Given the description of an element on the screen output the (x, y) to click on. 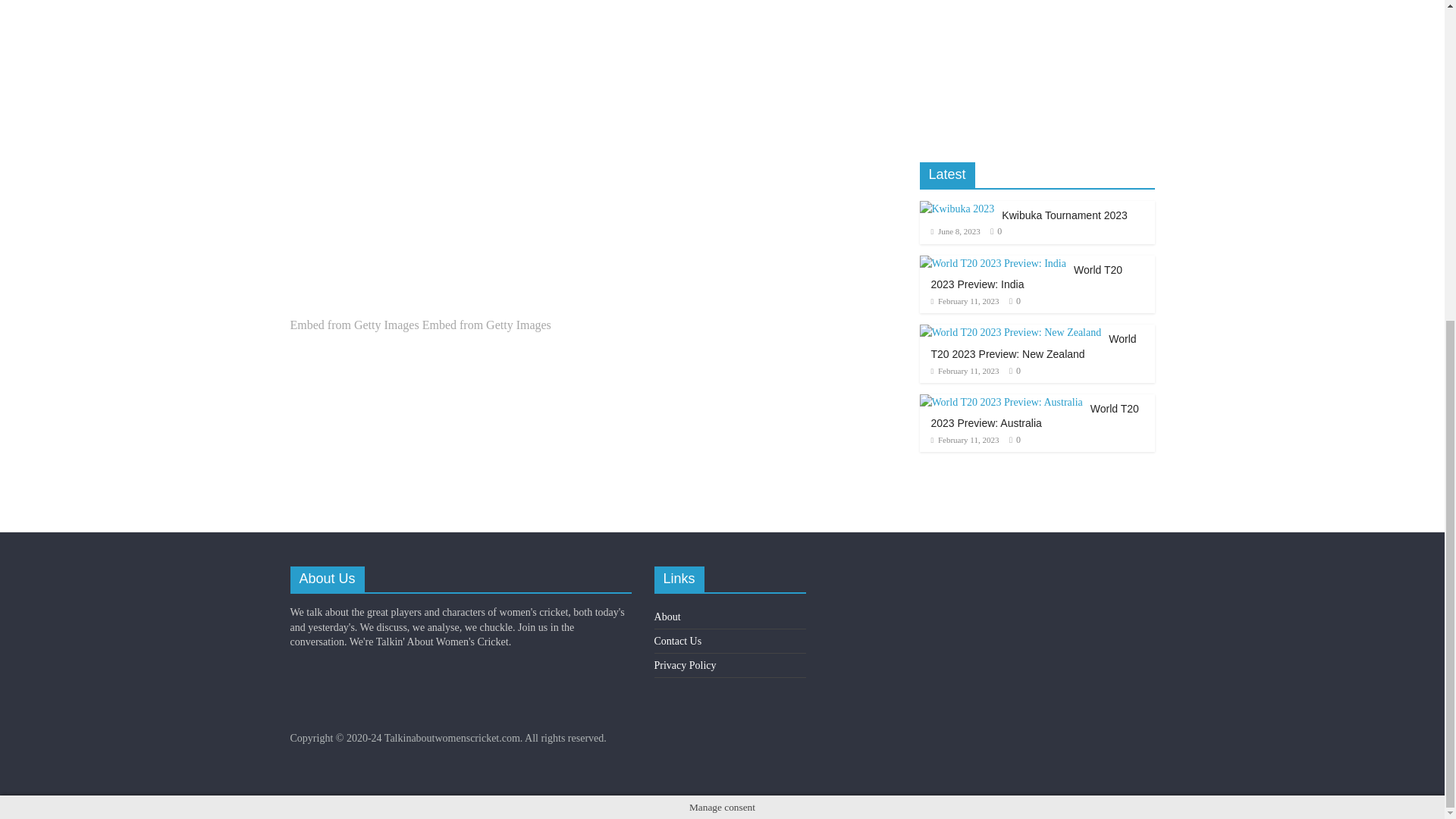
Kwibuka Tournament 2023 (1063, 215)
World T20 2023 Preview: India (991, 263)
10:43 pm (955, 230)
World T20 2023 Preview: India (1026, 277)
World T20 2023 Preview: New Zealand (1034, 346)
World T20 2023 Preview: India (991, 263)
11:28 pm (964, 300)
Kwibuka Tournament 2023 (956, 208)
12:12 pm (964, 370)
Kwibuka Tournament 2023 (956, 208)
World T20 2023 Preview: New Zealand (1009, 332)
World T20 2023 Preview: New Zealand (1009, 332)
